Given the description of an element on the screen output the (x, y) to click on. 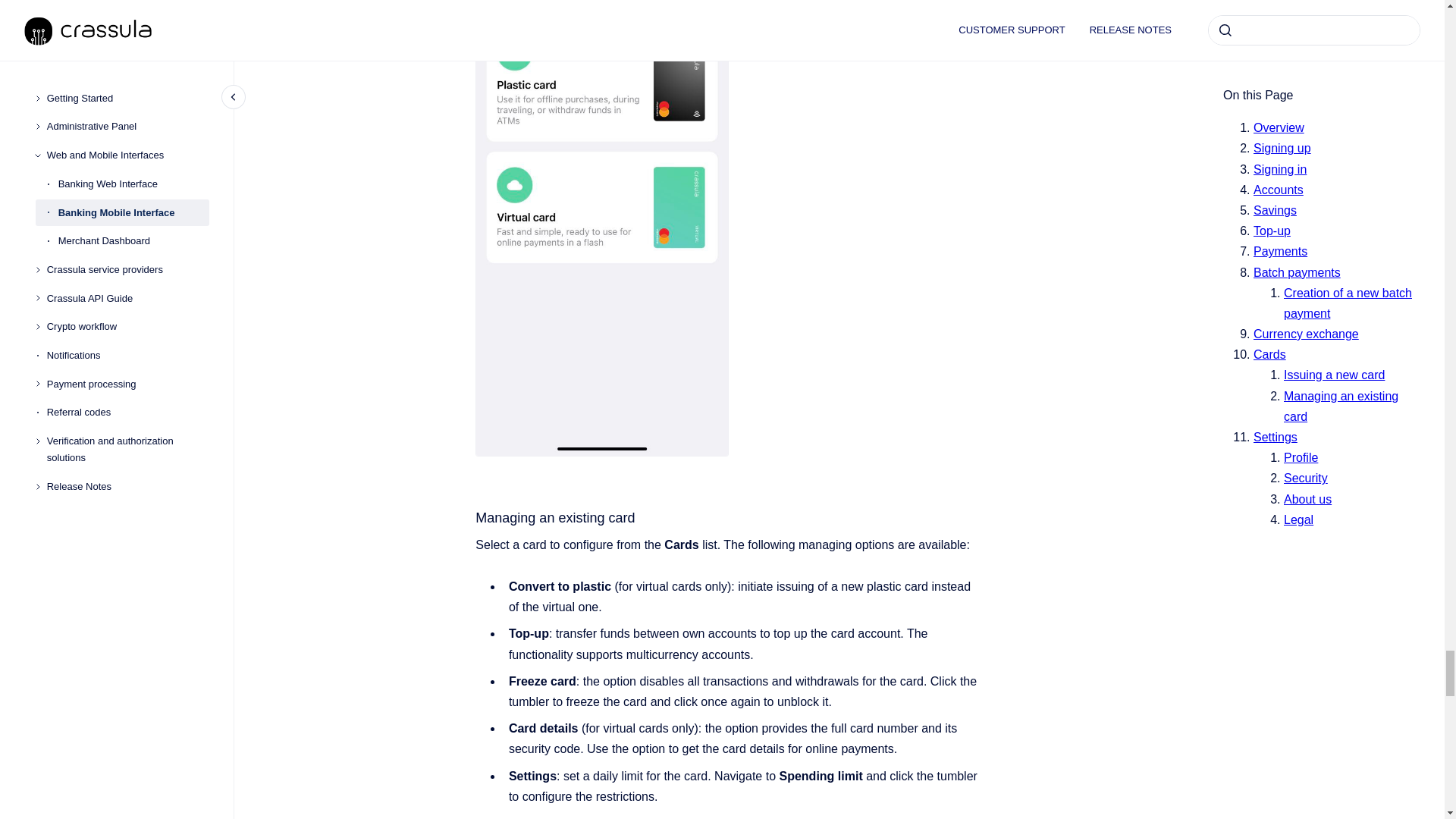
Copy to clipboard (468, 516)
